Given the description of an element on the screen output the (x, y) to click on. 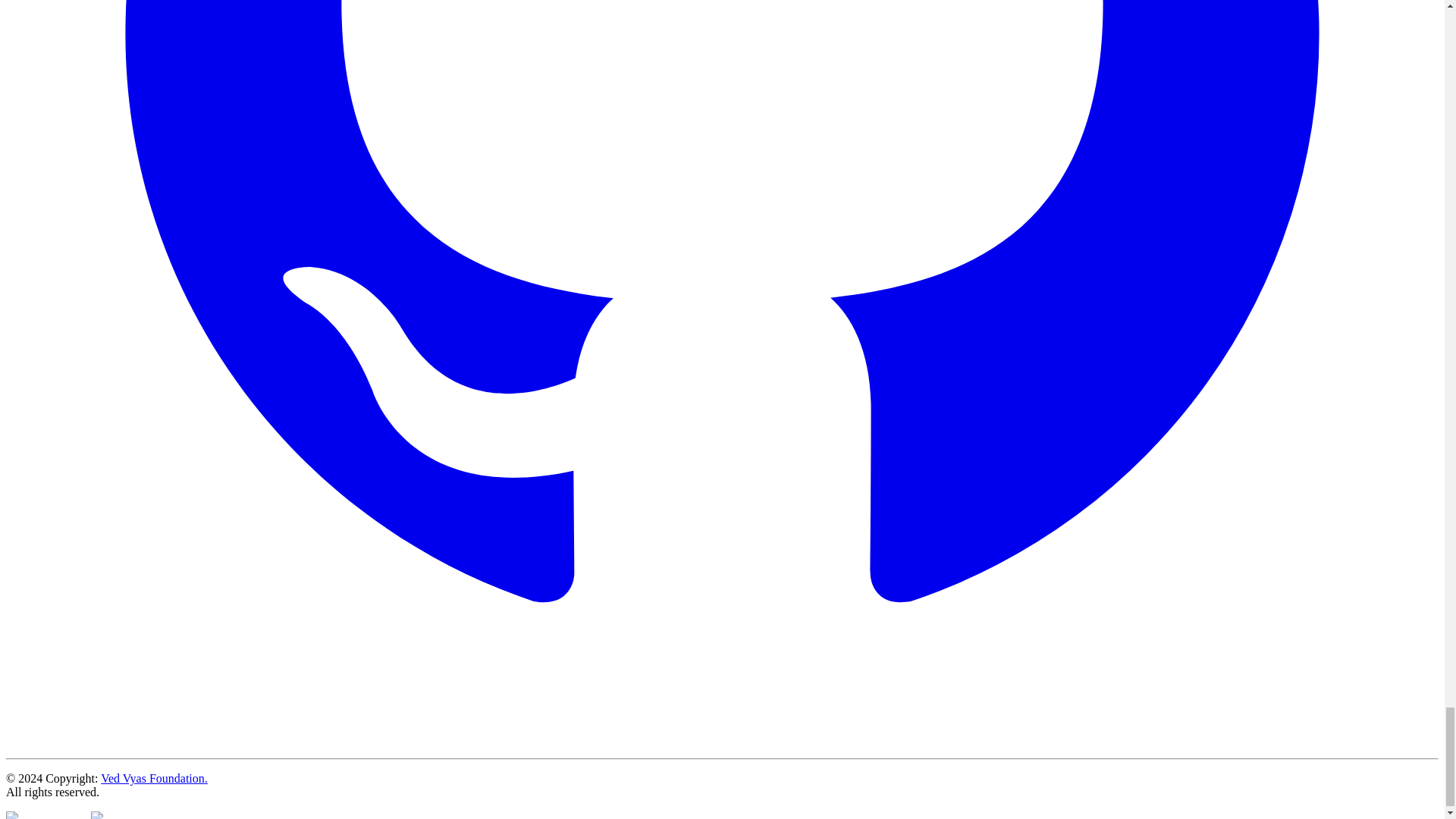
Ved Vyas Foundation. (154, 778)
